Given the description of an element on the screen output the (x, y) to click on. 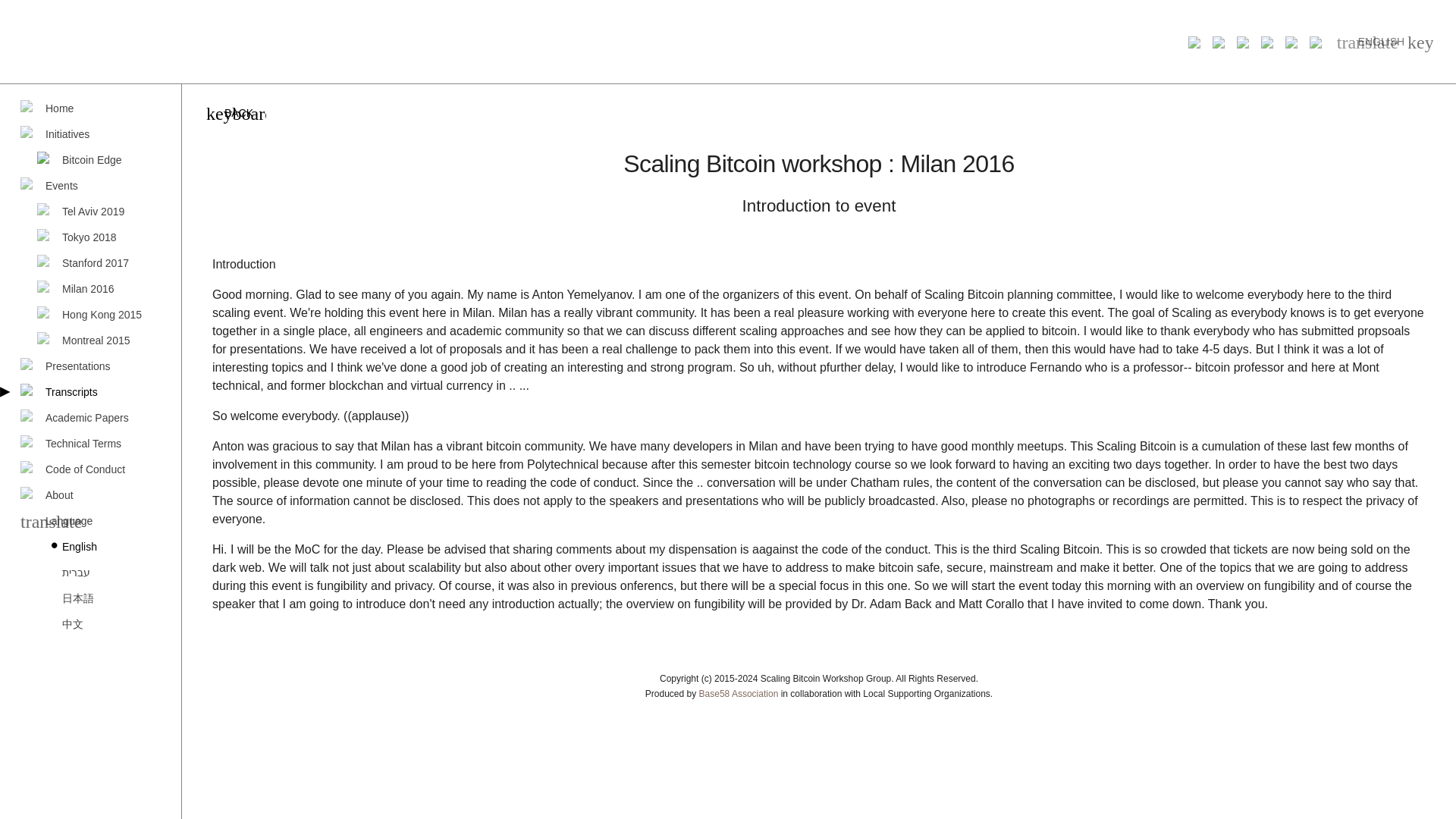
Weibo (1309, 41)
Code of Conduct (90, 469)
Wechat (1284, 41)
Events (90, 185)
English (98, 546)
Milan 2016 (98, 289)
About (90, 494)
Hong Kong 2015 (98, 314)
Home (90, 108)
Technical Terms (90, 443)
